Given the description of an element on the screen output the (x, y) to click on. 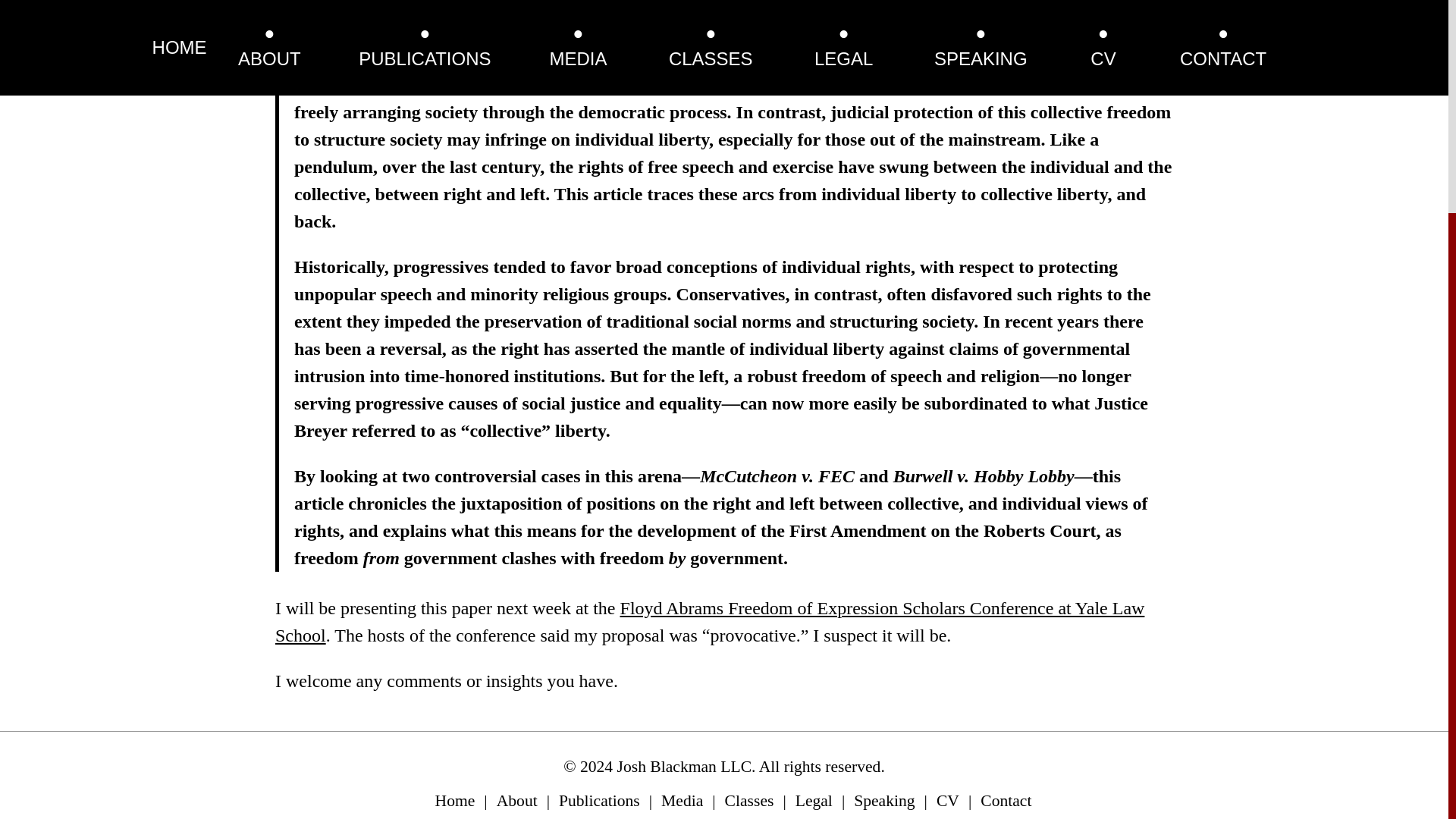
Home (455, 800)
Legal (813, 800)
CV (947, 800)
Contact (1004, 800)
Publications (599, 800)
Classes (749, 800)
About (516, 800)
Media (682, 800)
Speaking (883, 800)
